Given the description of an element on the screen output the (x, y) to click on. 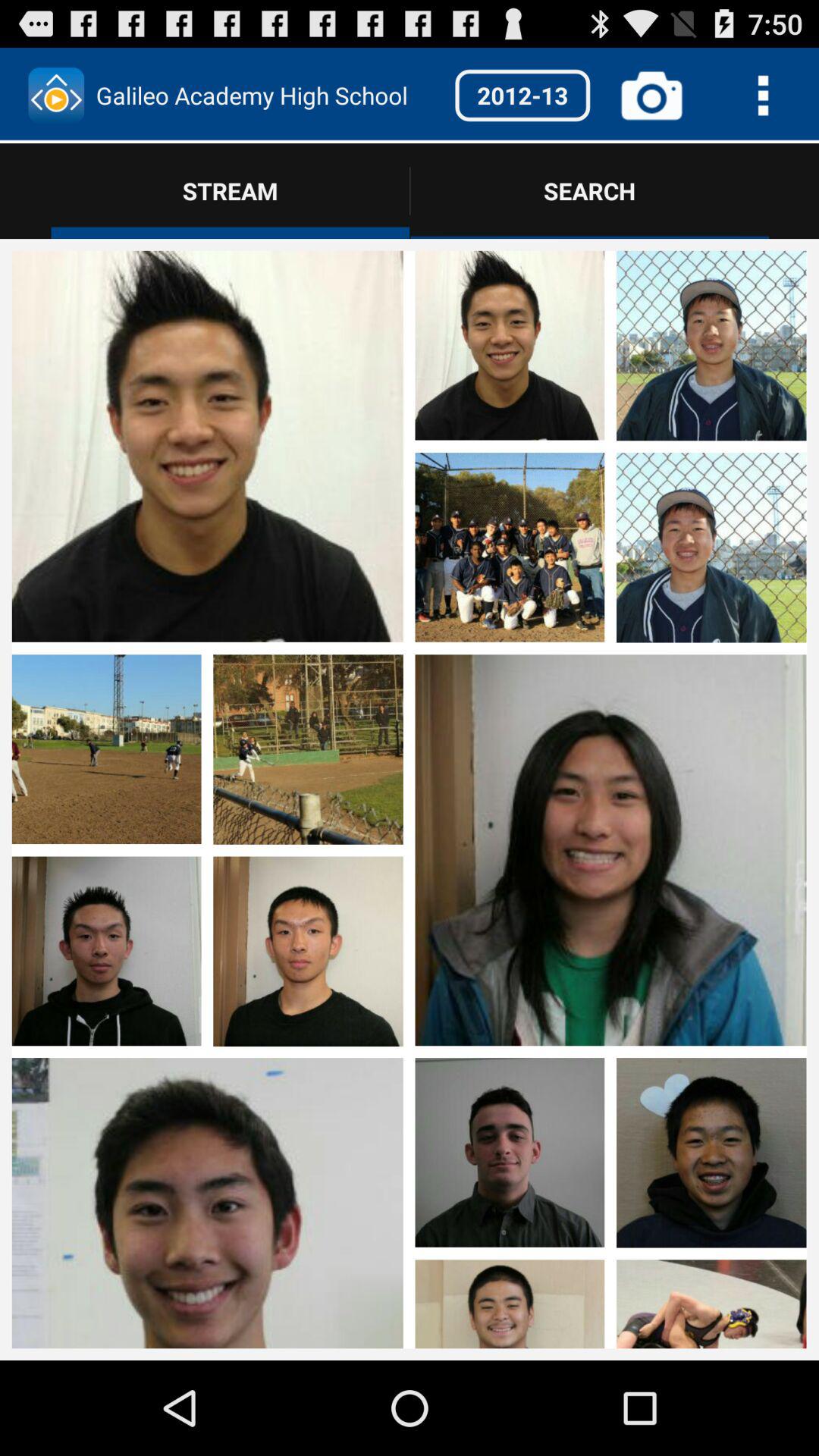
open photo album (610, 447)
